Given the description of an element on the screen output the (x, y) to click on. 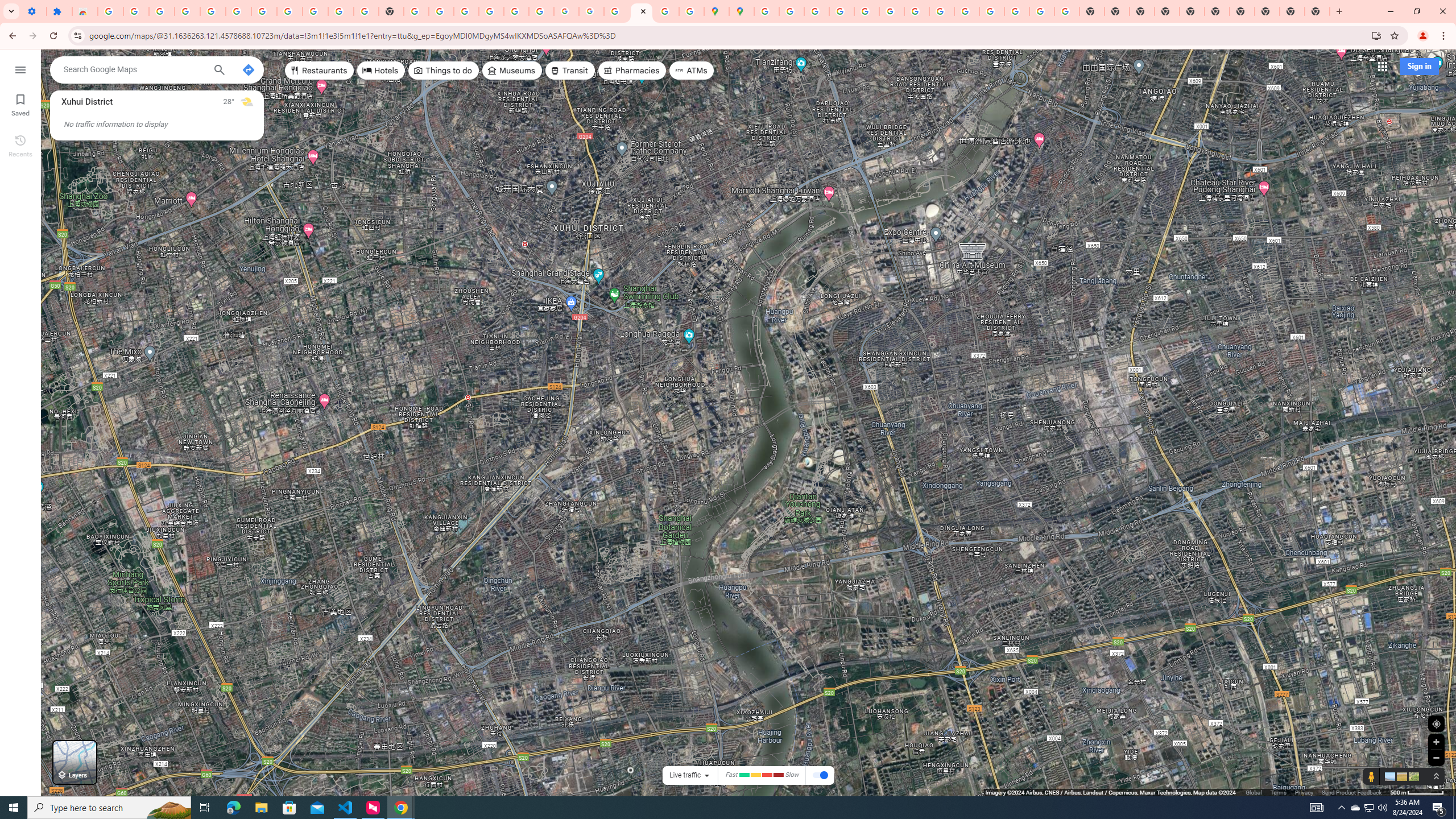
Sign in - Google Accounts (491, 11)
New Tab (1317, 11)
Show imagery (1412, 776)
Zoom out (1436, 757)
Things to do (443, 70)
